Given the description of an element on the screen output the (x, y) to click on. 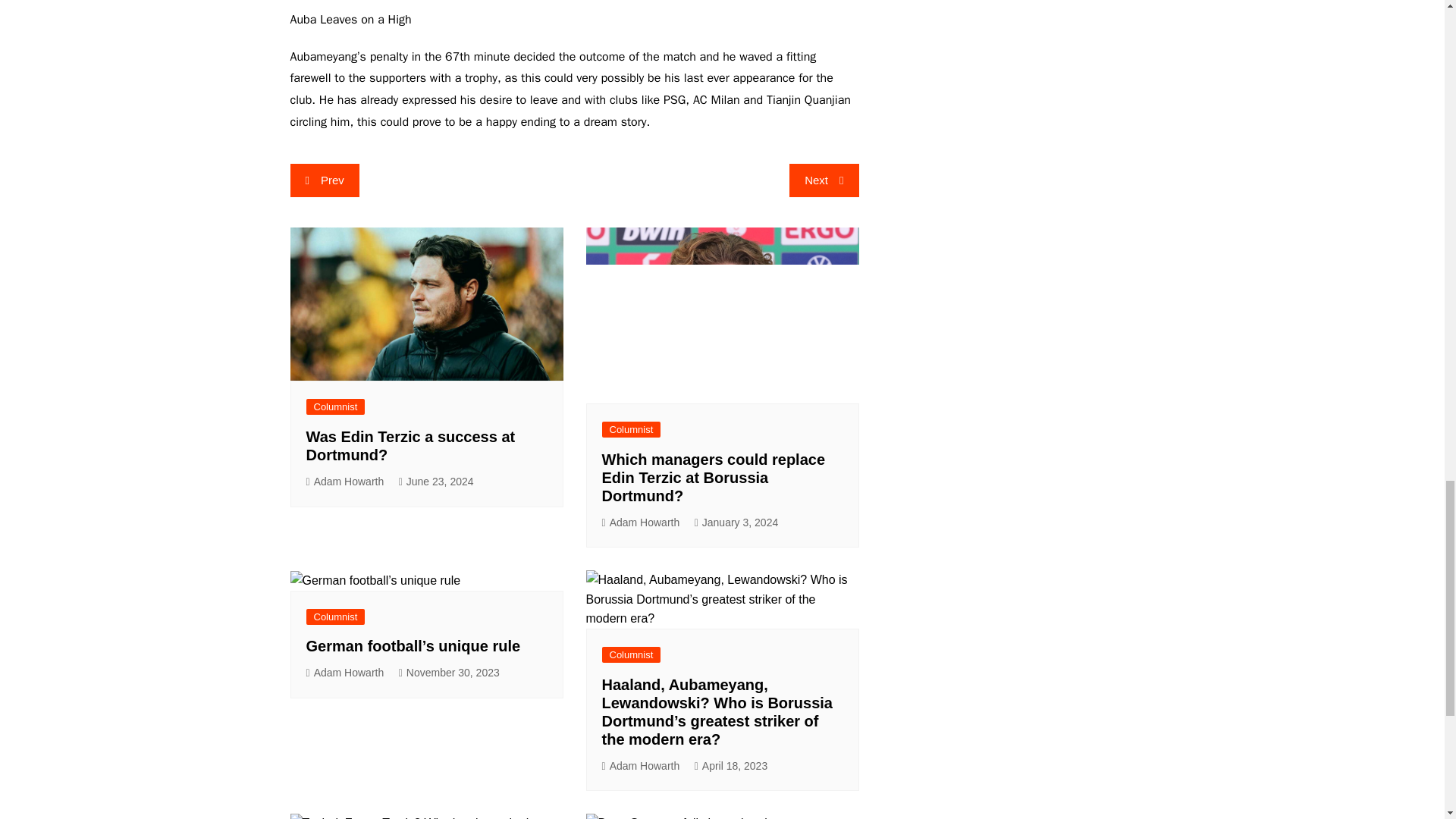
Adam Howarth (344, 481)
Adam Howarth (640, 765)
Adam Howarth (640, 522)
Columnist (631, 654)
April 18, 2023 (731, 765)
Columnist (335, 406)
Adam Howarth (344, 672)
Next (824, 180)
November 30, 2023 (448, 672)
